Given the description of an element on the screen output the (x, y) to click on. 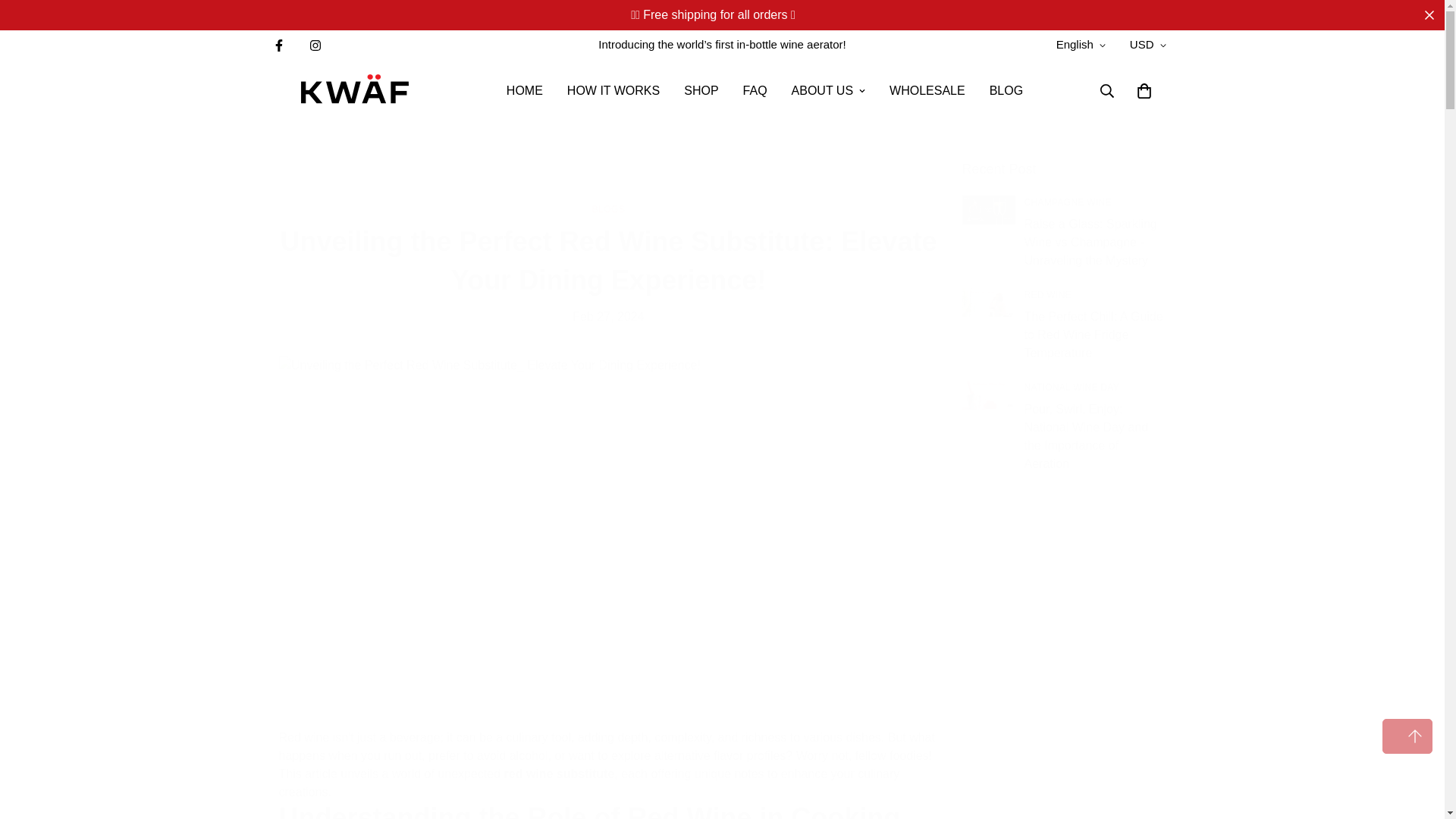
WHOLESALE (926, 90)
HOW IT WORKS (612, 90)
Kwaf Wine Aerators (354, 91)
SHOP (700, 90)
Blogs (637, 182)
ABOUT US (827, 90)
Back to the home page (579, 182)
Home (579, 182)
BLOG (1005, 90)
FAQ (754, 90)
